Given the description of an element on the screen output the (x, y) to click on. 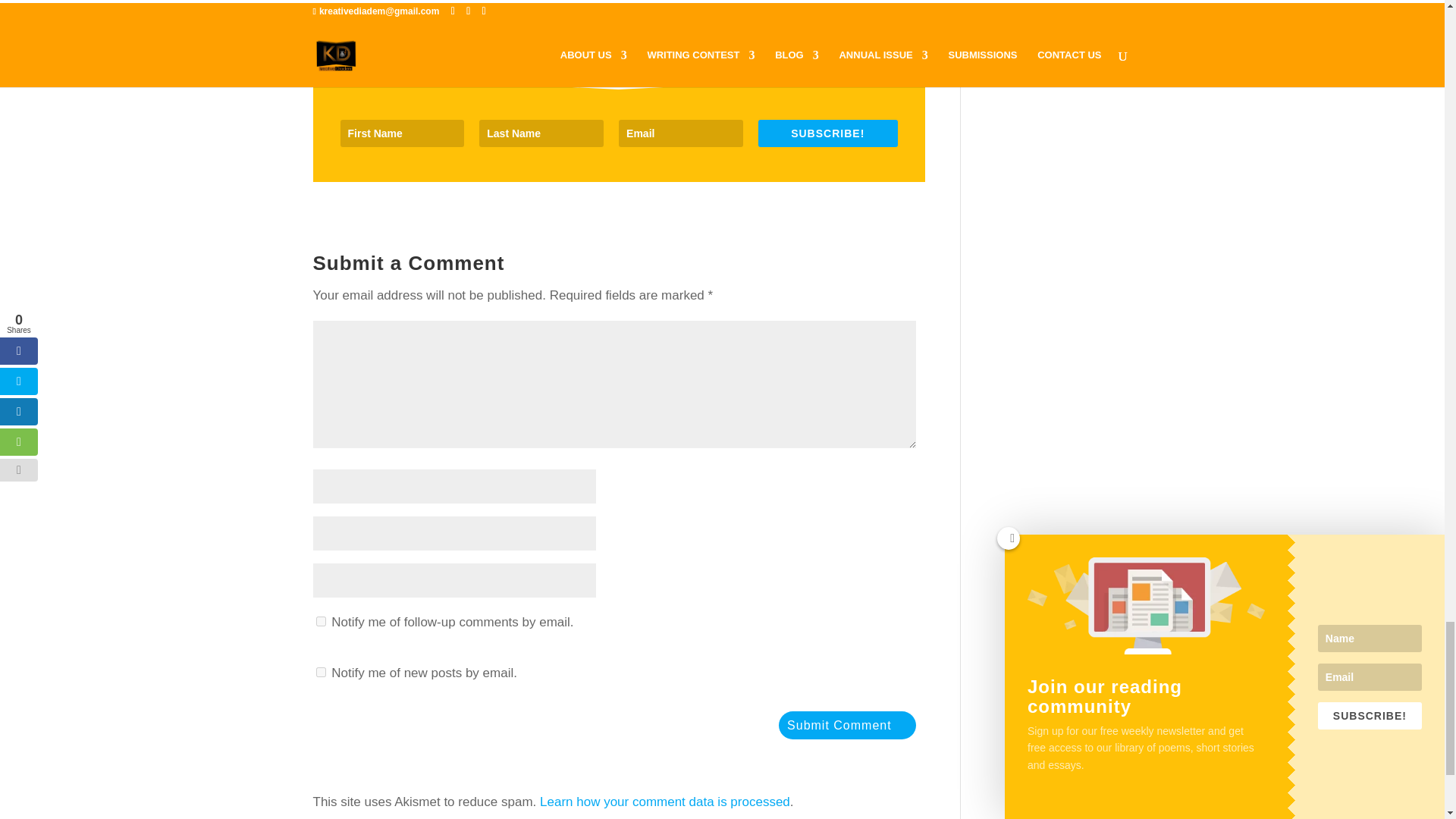
Submit Comment (846, 725)
subscribe (319, 621)
subscribe (319, 672)
